Given the description of an element on the screen output the (x, y) to click on. 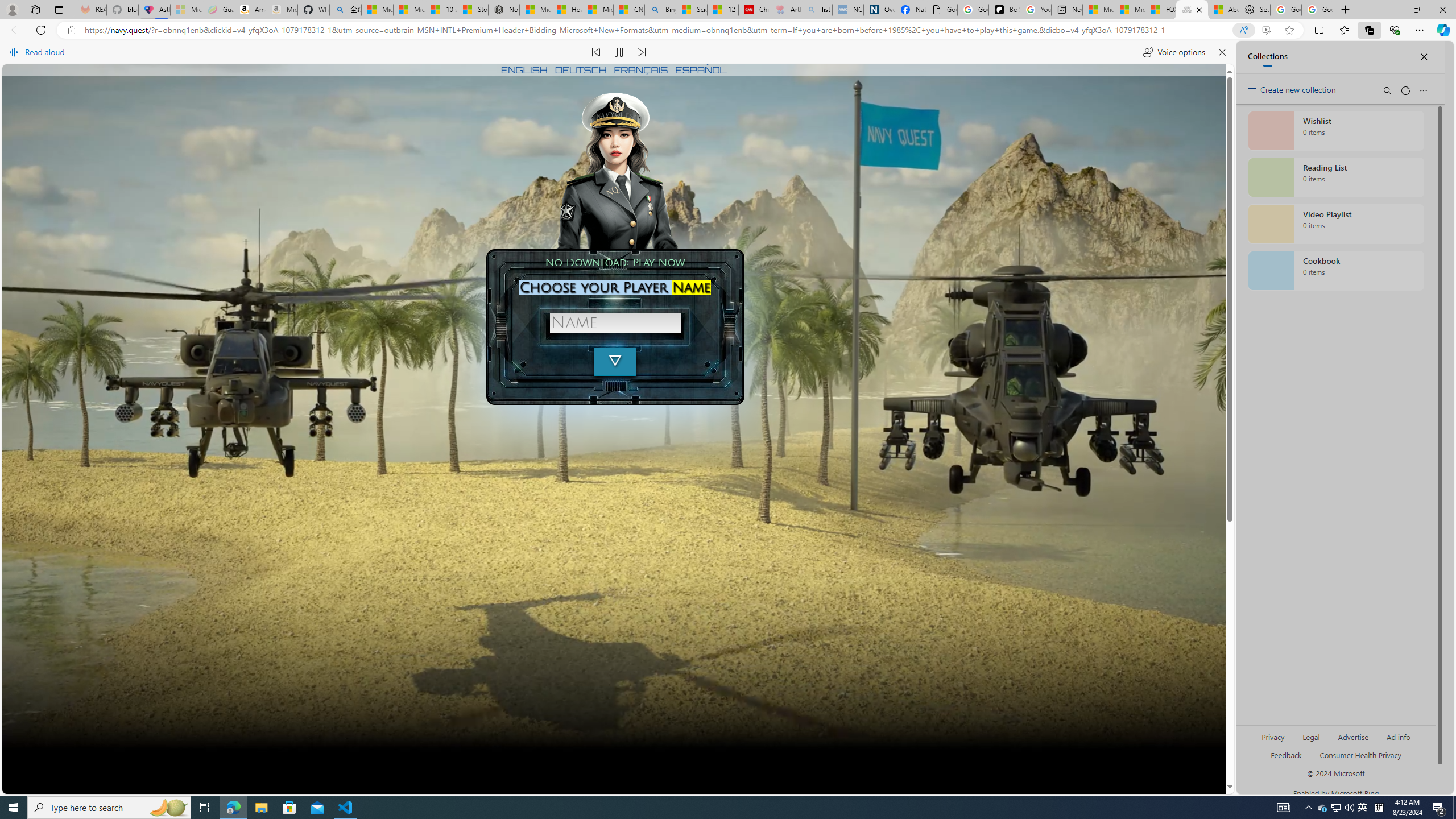
Arthritis: Ask Health Professionals - Sleeping (785, 9)
Terms (713, 760)
Collections (1369, 29)
12 Popular Science Lies that Must be Corrected (722, 9)
Split screen (1318, 29)
App bar (728, 29)
Stocks - MSN (472, 9)
Read previous paragraph (596, 52)
Minimize (1390, 9)
